Given the description of an element on the screen output the (x, y) to click on. 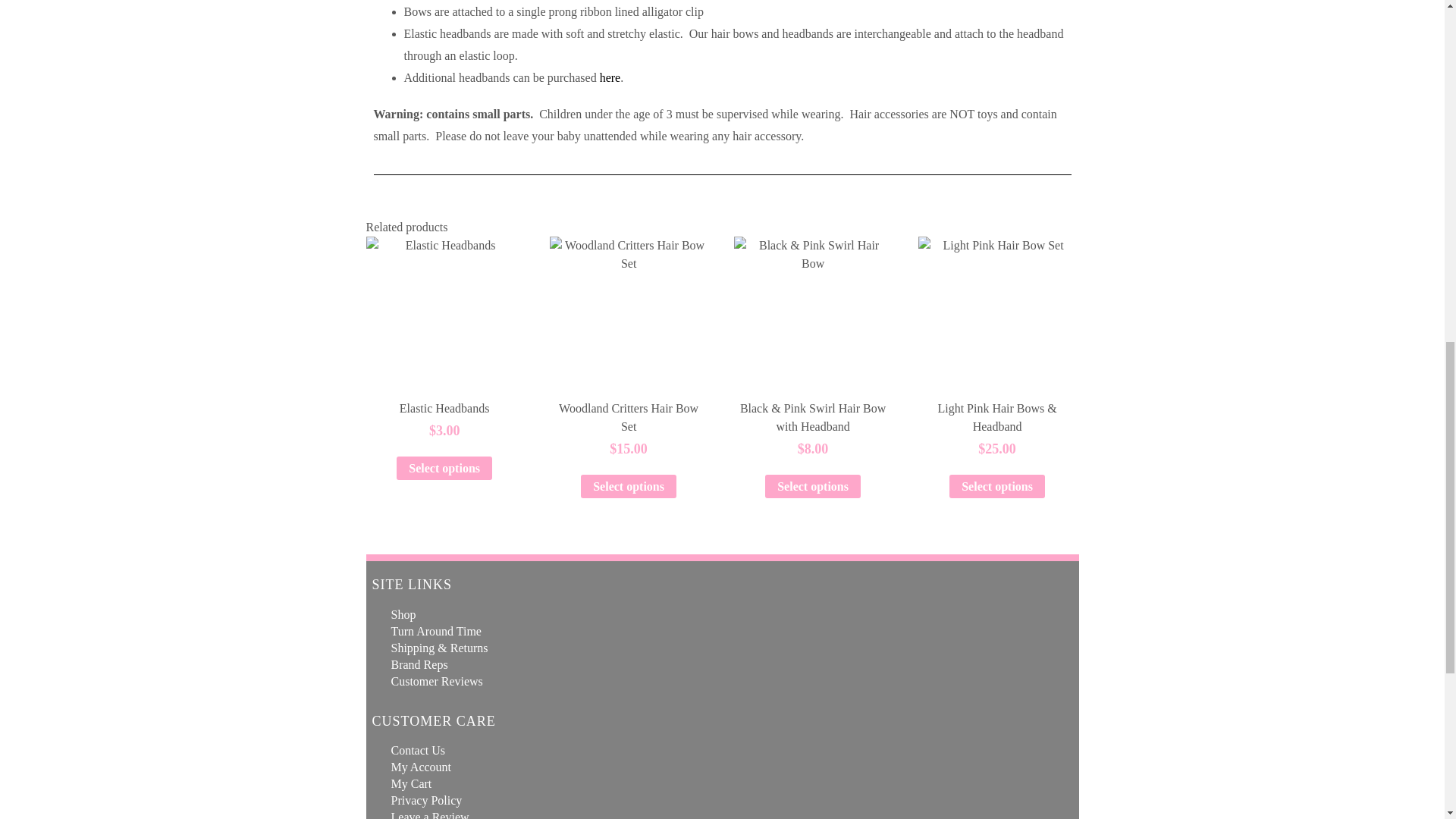
Select options (812, 486)
Select options (444, 467)
Select options (628, 486)
here (610, 77)
